Given the description of an element on the screen output the (x, y) to click on. 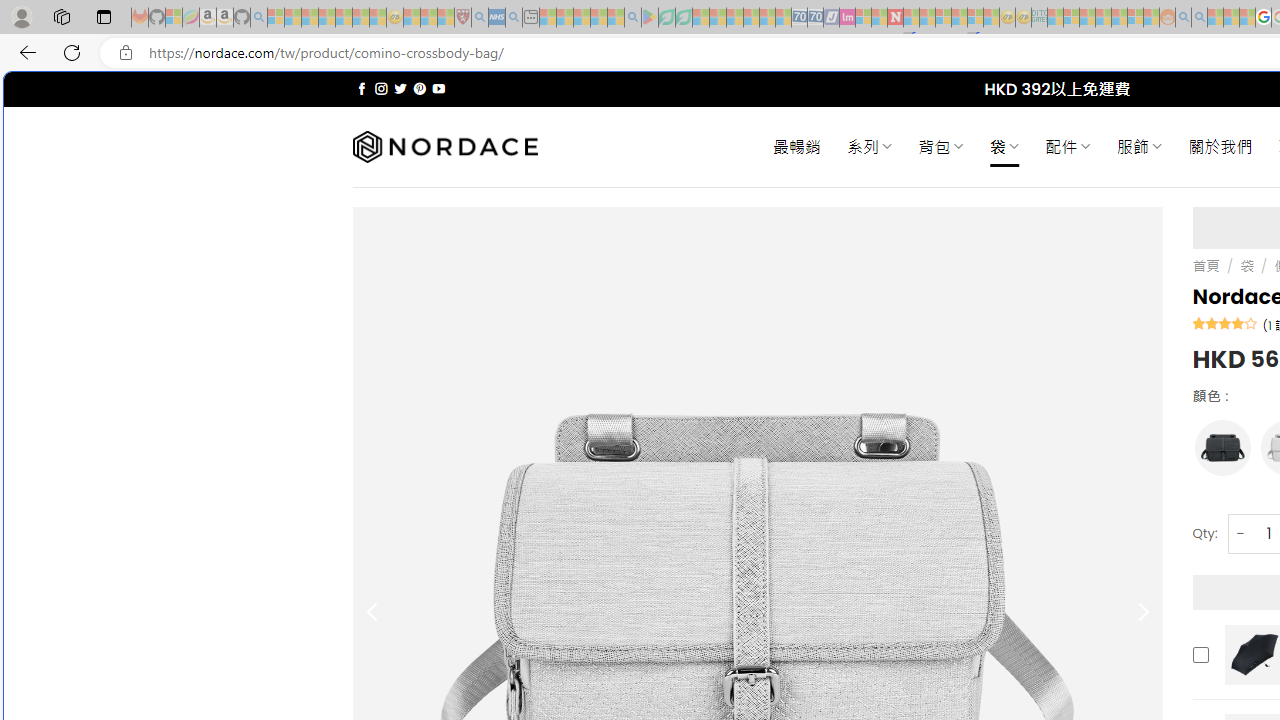
Bluey: Let's Play! - Apps on Google Play - Sleeping (649, 17)
utah sues federal government - Search - Sleeping (513, 17)
View site information (125, 53)
Microsoft Start - Sleeping (1215, 17)
New tab - Sleeping (530, 17)
Recipes - MSN - Sleeping (411, 17)
Cheap Car Rentals - Save70.com - Sleeping (799, 17)
